Given the description of an element on the screen output the (x, y) to click on. 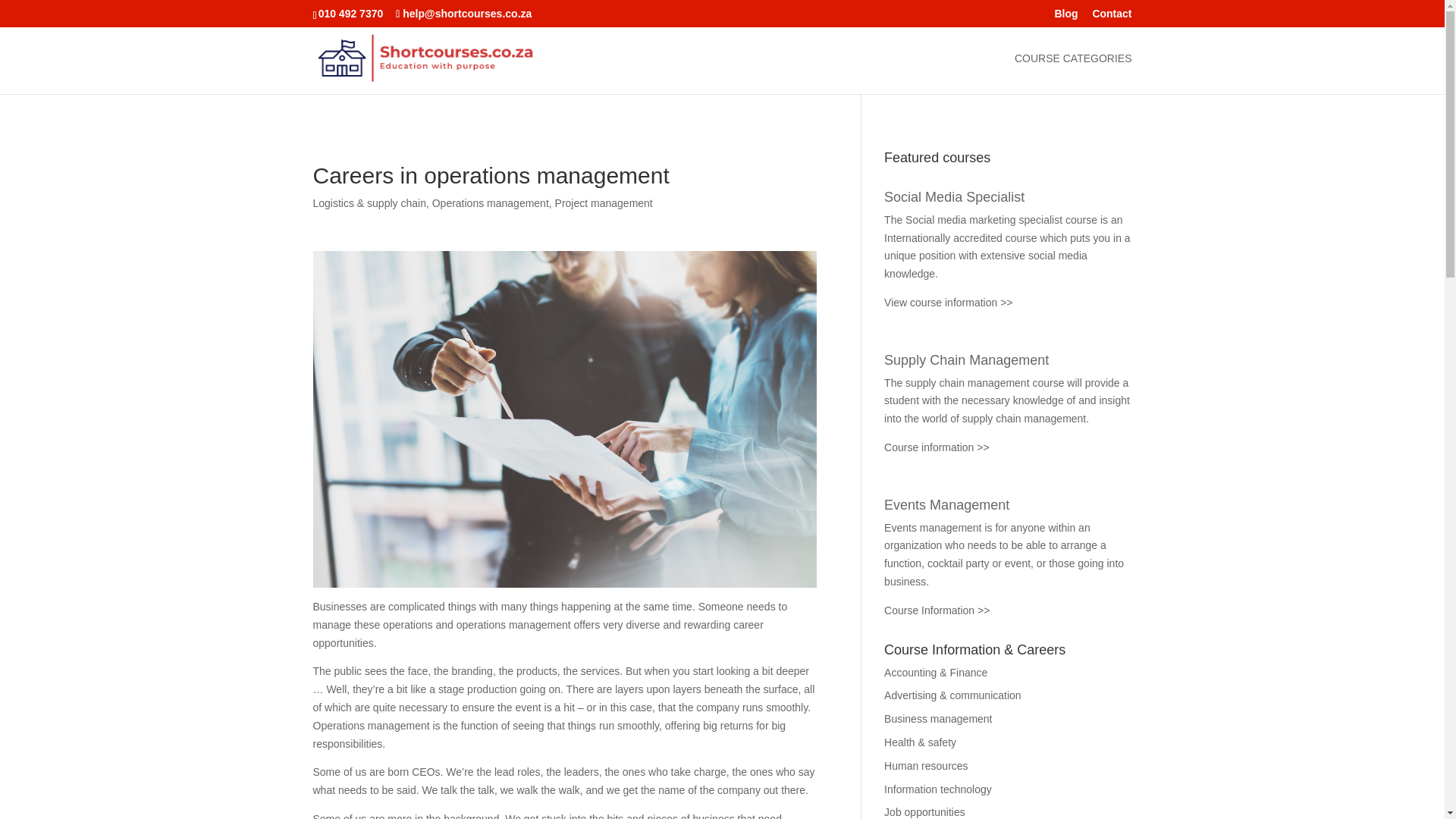
Supply Chain Management (965, 359)
Social Media Specialist (954, 196)
Job opportunities (924, 811)
Operations management (490, 203)
Information technology (937, 788)
Business management (937, 718)
COURSE CATEGORIES (1073, 73)
Project management (603, 203)
Events Management (946, 504)
Blog (1065, 16)
